Given the description of an element on the screen output the (x, y) to click on. 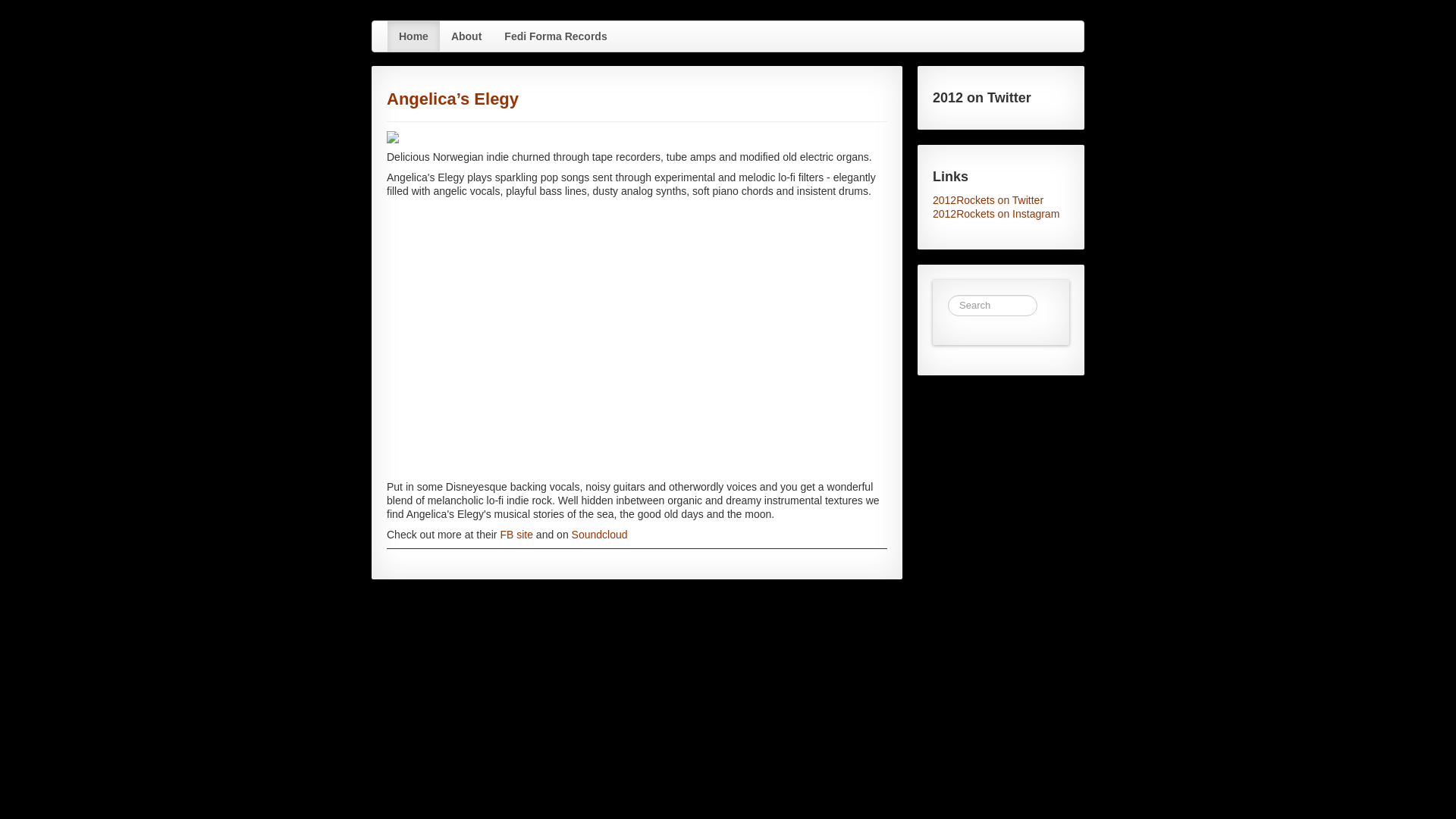
2012Rockets on Instagram Element type: text (1000, 213)
JoomlaWorks AllVideos Player Element type: hover (636, 337)
About Element type: text (465, 36)
FB site Element type: text (516, 534)
Home Element type: text (413, 36)
Fedi Forma Records Element type: text (555, 36)
2012Rockets on Twitter Element type: text (1000, 200)
Soundcloud Element type: text (599, 534)
